Given the description of an element on the screen output the (x, y) to click on. 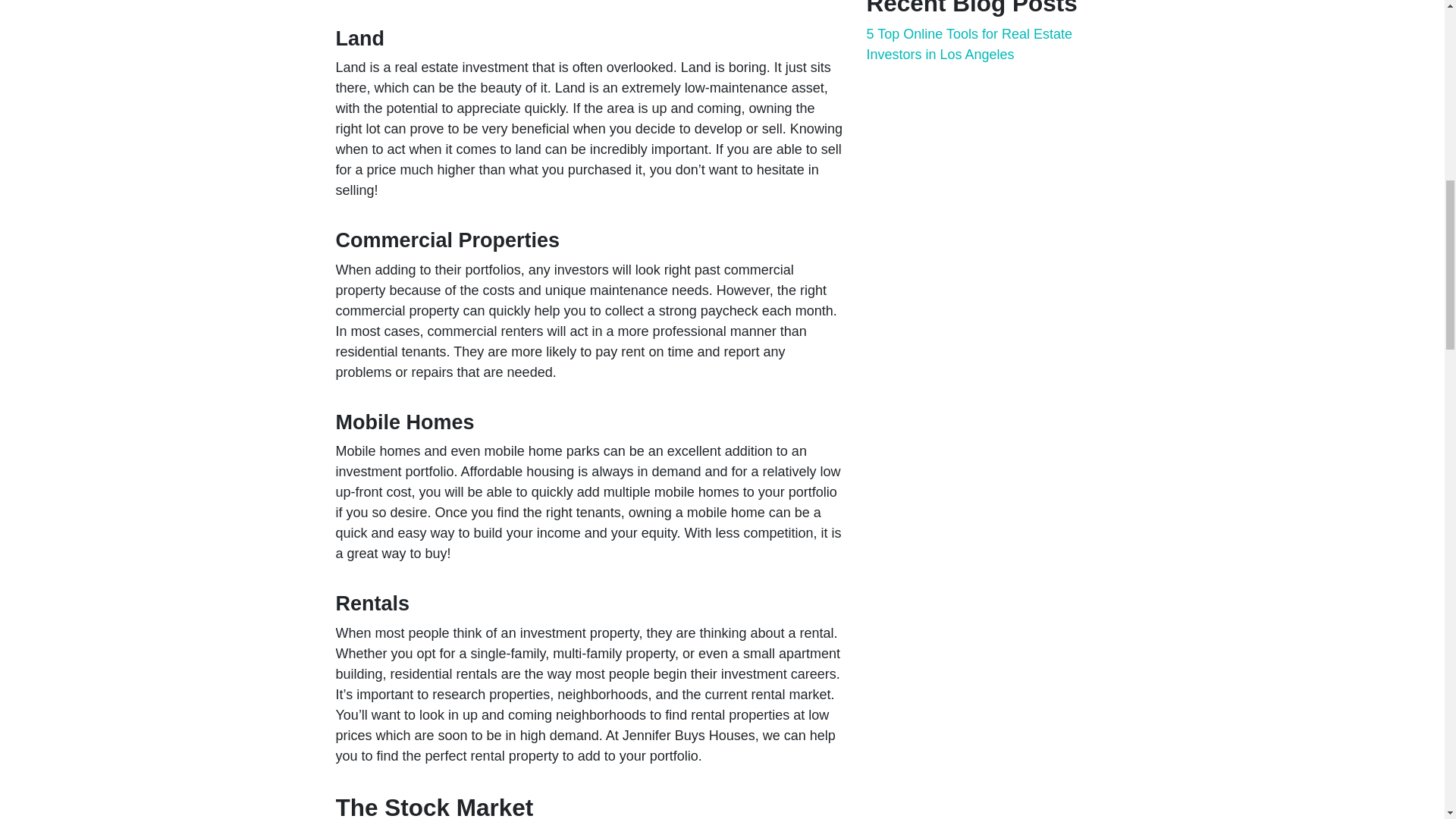
5 Top Online Tools for Real Estate Investors in Los Angeles (968, 44)
